Given the description of an element on the screen output the (x, y) to click on. 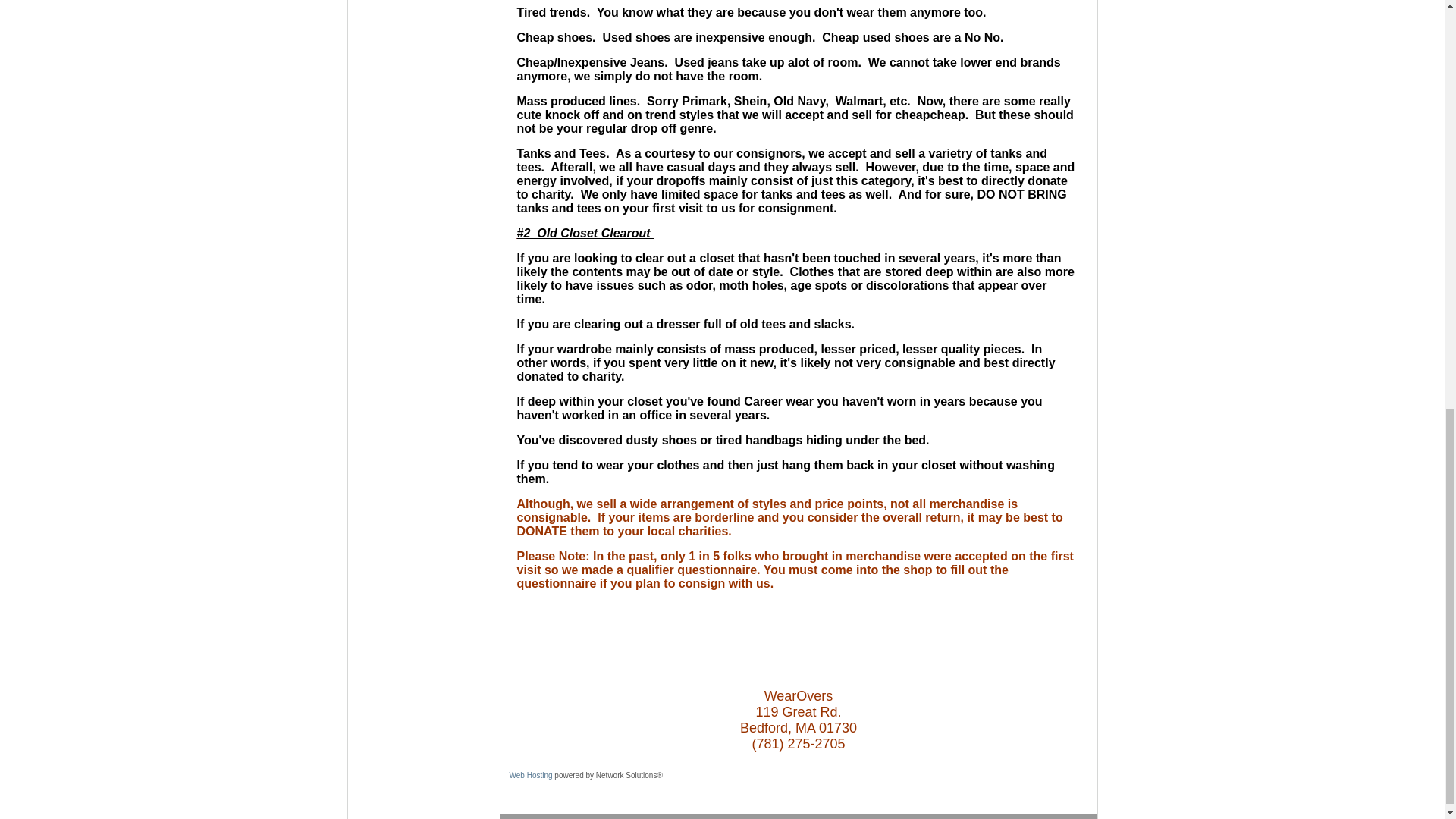
Web hosting (531, 775)
Web Hosting (531, 775)
